Given the description of an element on the screen output the (x, y) to click on. 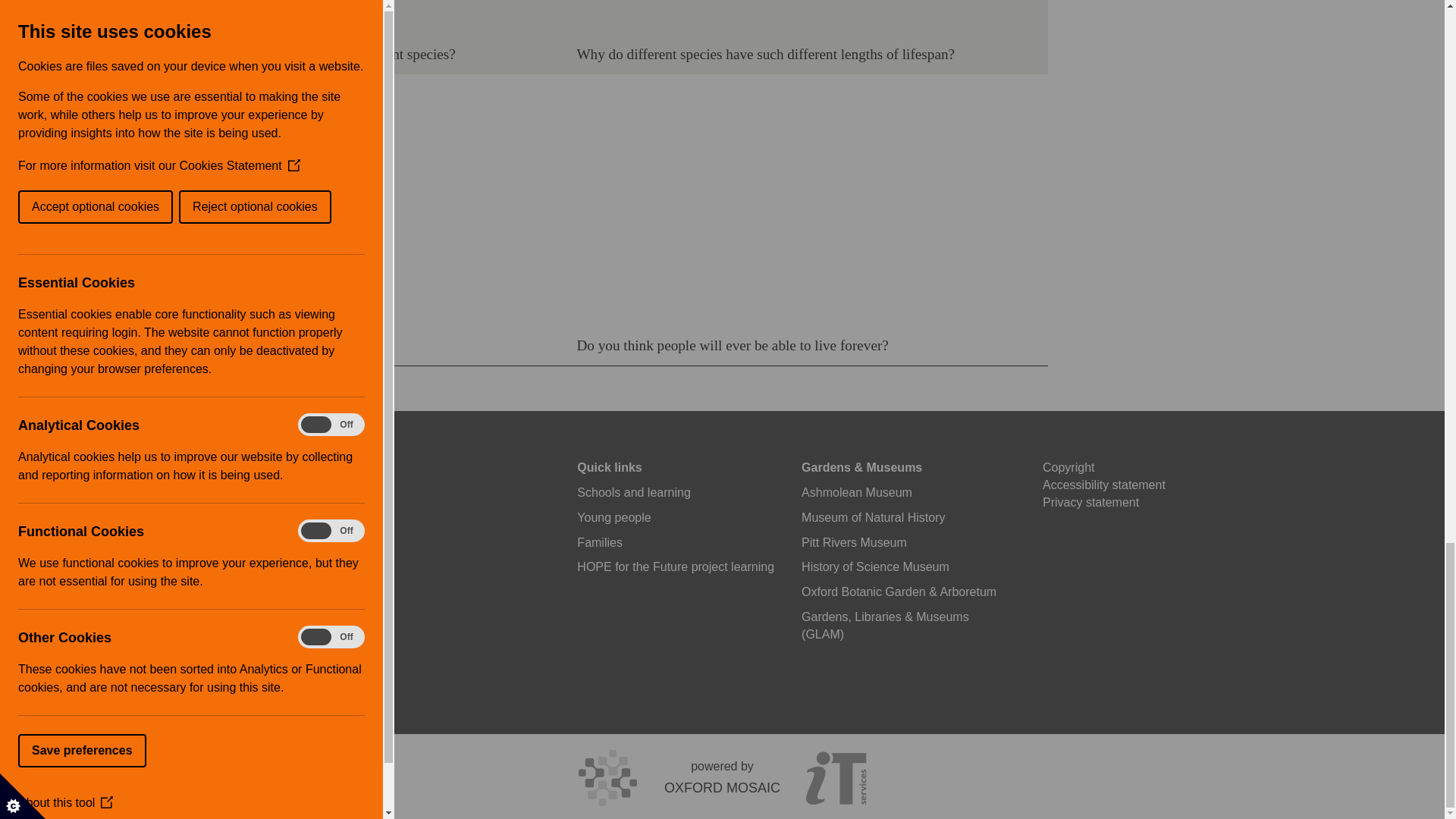
YouTube video player (788, 202)
YouTube video player (788, 15)
YouTube video player (339, 15)
YouTube video player (339, 202)
